Given the description of an element on the screen output the (x, y) to click on. 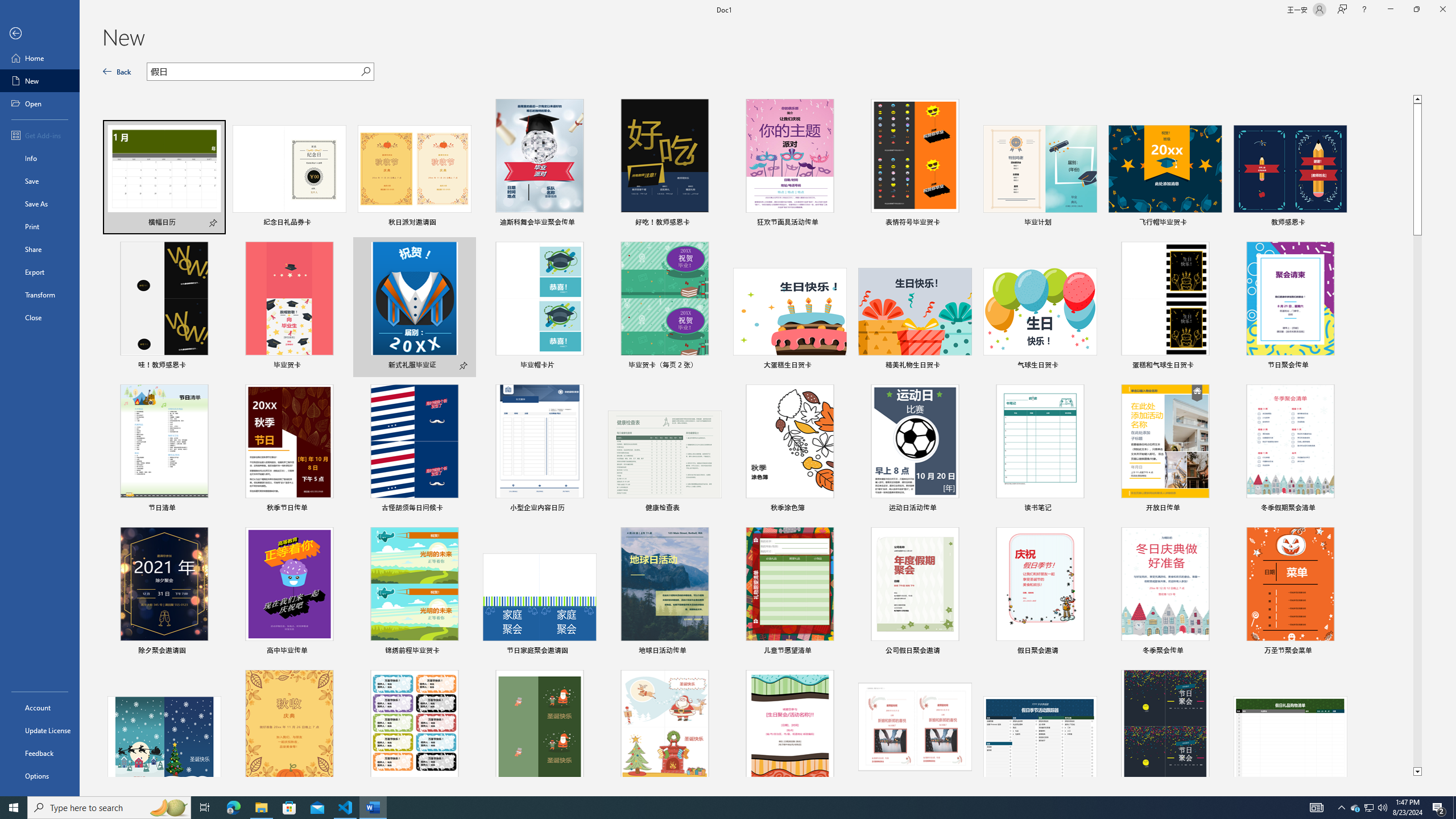
Start searching (366, 71)
Options (40, 775)
